Given the description of an element on the screen output the (x, y) to click on. 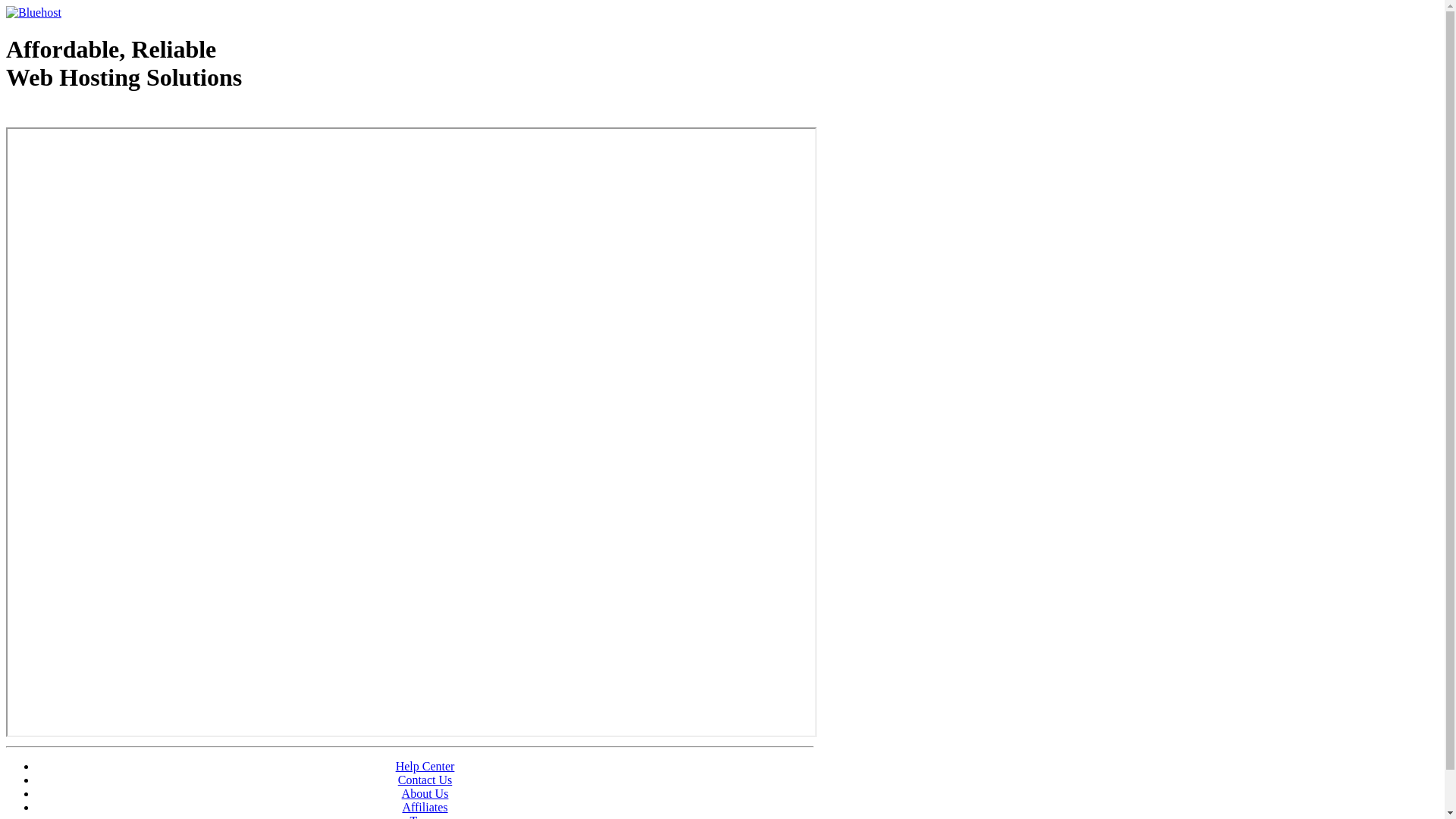
Contact Us Element type: text (425, 779)
About Us Element type: text (424, 793)
Help Center Element type: text (425, 765)
Web Hosting - courtesy of www.bluehost.com Element type: text (94, 115)
Affiliates Element type: text (424, 806)
